Given the description of an element on the screen output the (x, y) to click on. 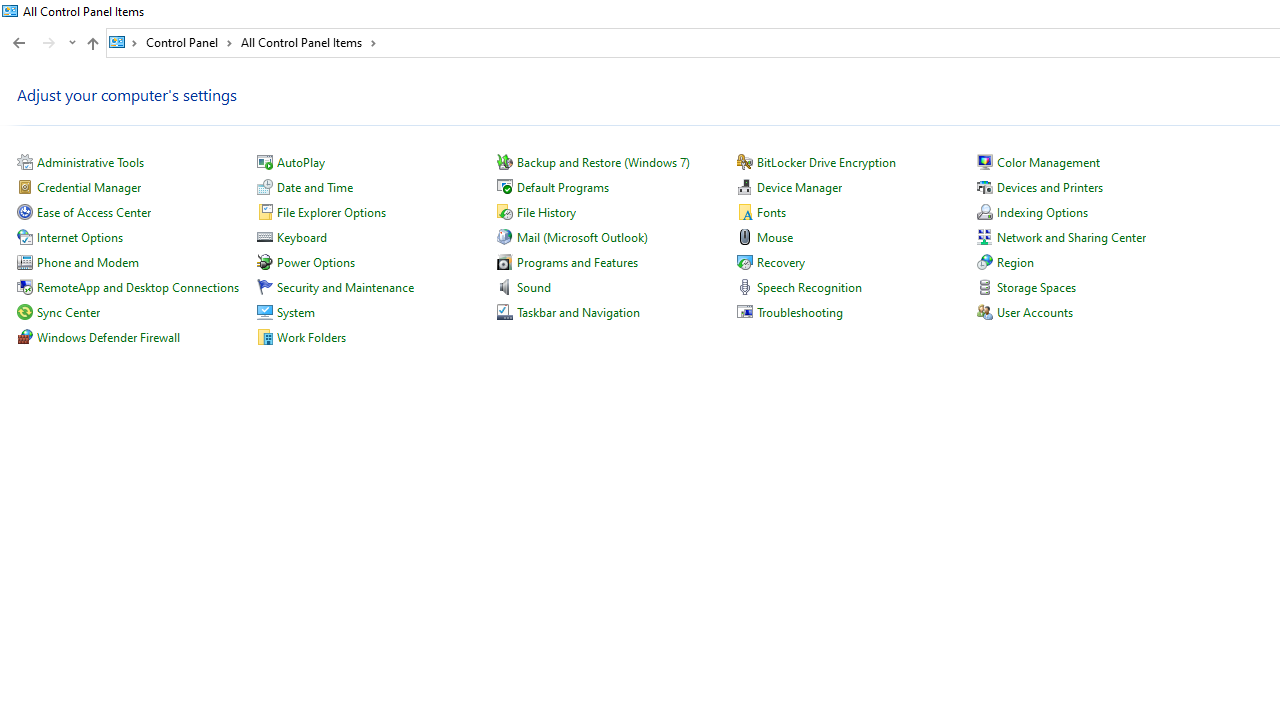
Control Panel (189, 42)
Up band toolbar (92, 46)
Default Programs (562, 187)
Ease of Access Center (93, 212)
Indexing Options (1042, 212)
Power Options (316, 262)
System (296, 312)
Windows Defender Firewall (107, 336)
RemoteApp and Desktop Connections (137, 287)
All Control Panel Items (308, 42)
Backup and Restore (Windows 7) (603, 161)
All locations (124, 42)
Sync Center (68, 312)
Back to Control Panel (Alt + Left Arrow) (18, 43)
Security and Maintenance (345, 287)
